Given the description of an element on the screen output the (x, y) to click on. 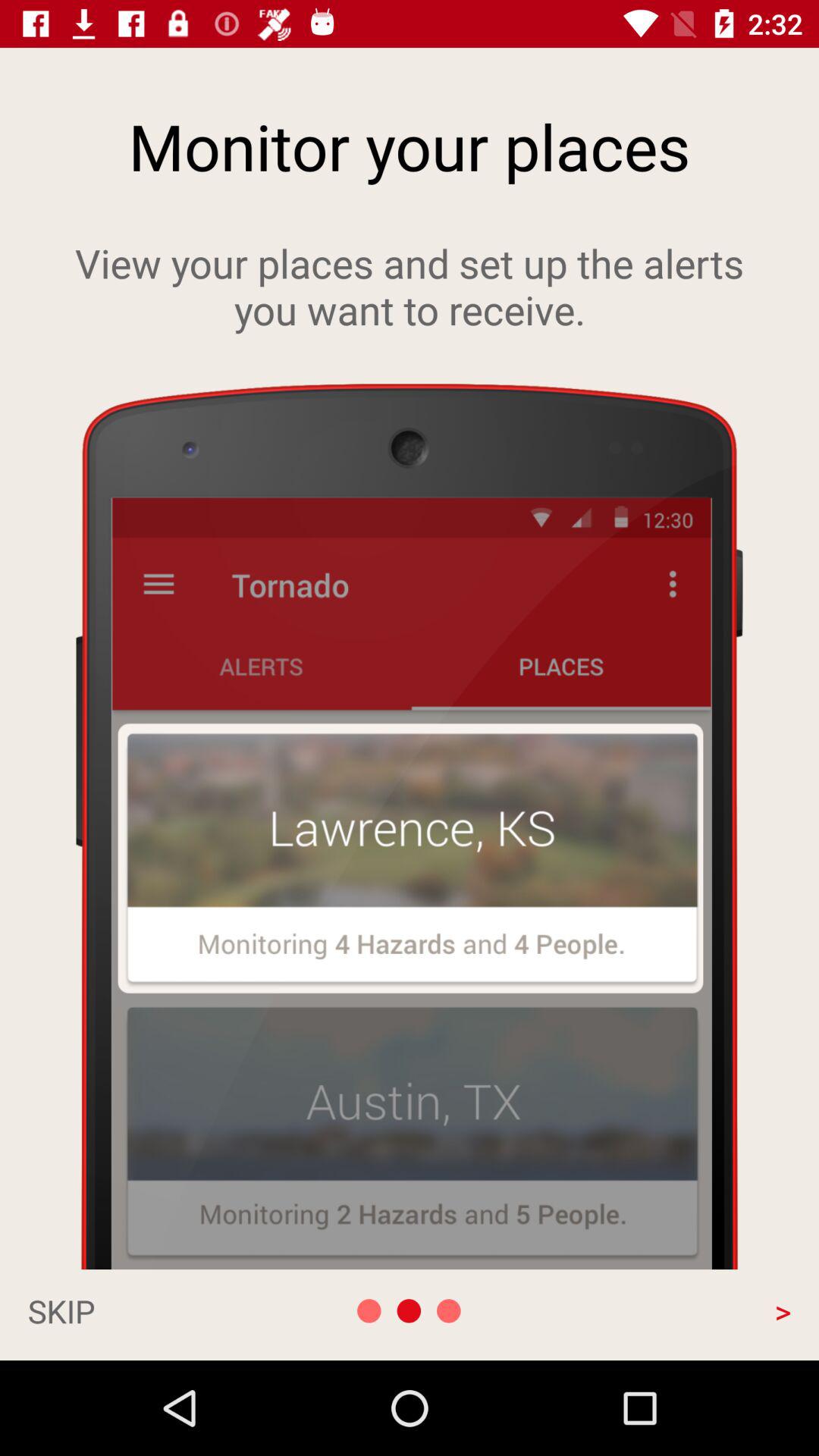
select the > app (677, 1310)
